Given the description of an element on the screen output the (x, y) to click on. 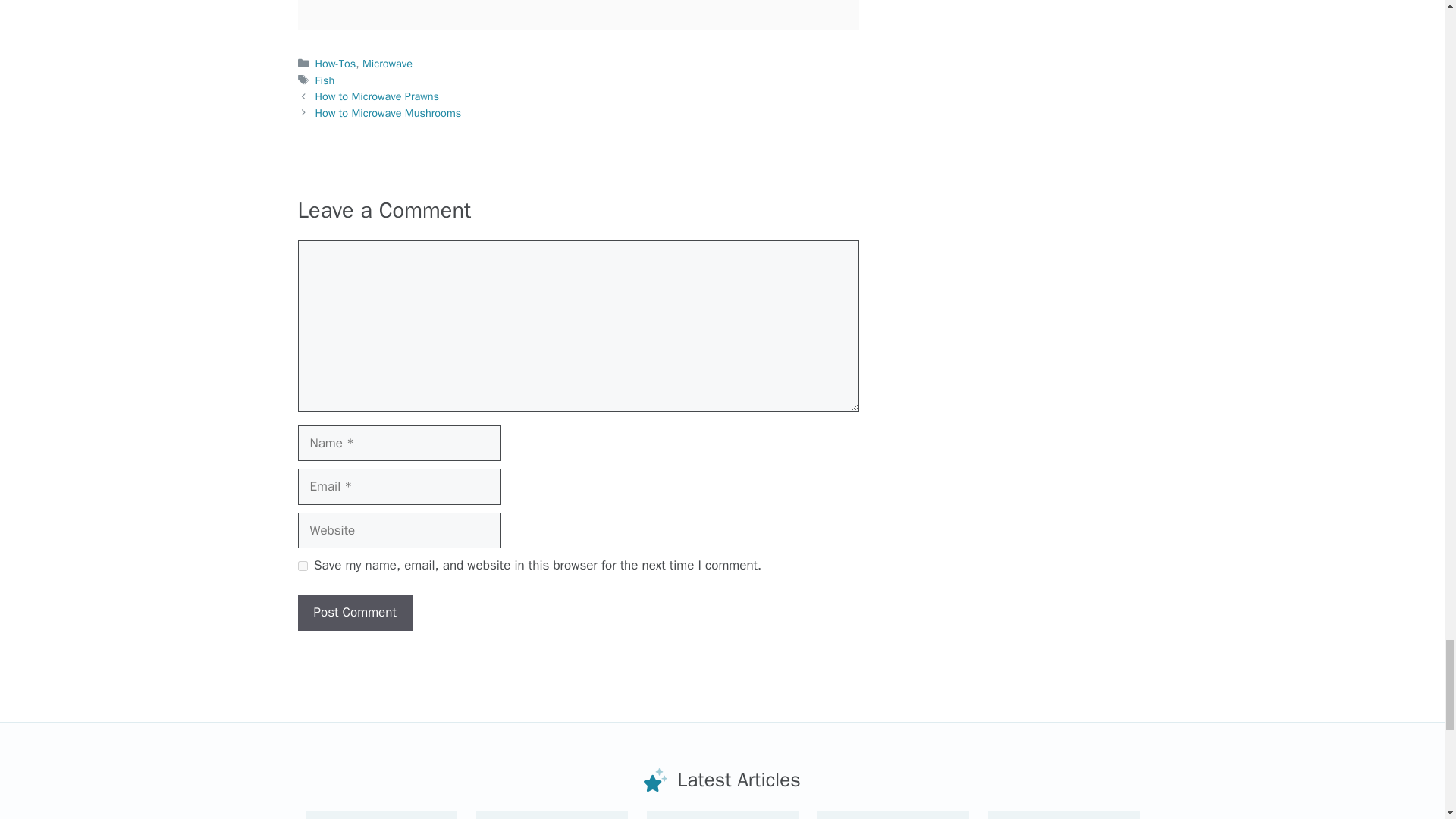
Post Comment (354, 612)
yes (302, 565)
How-Tos (335, 63)
